Given the description of an element on the screen output the (x, y) to click on. 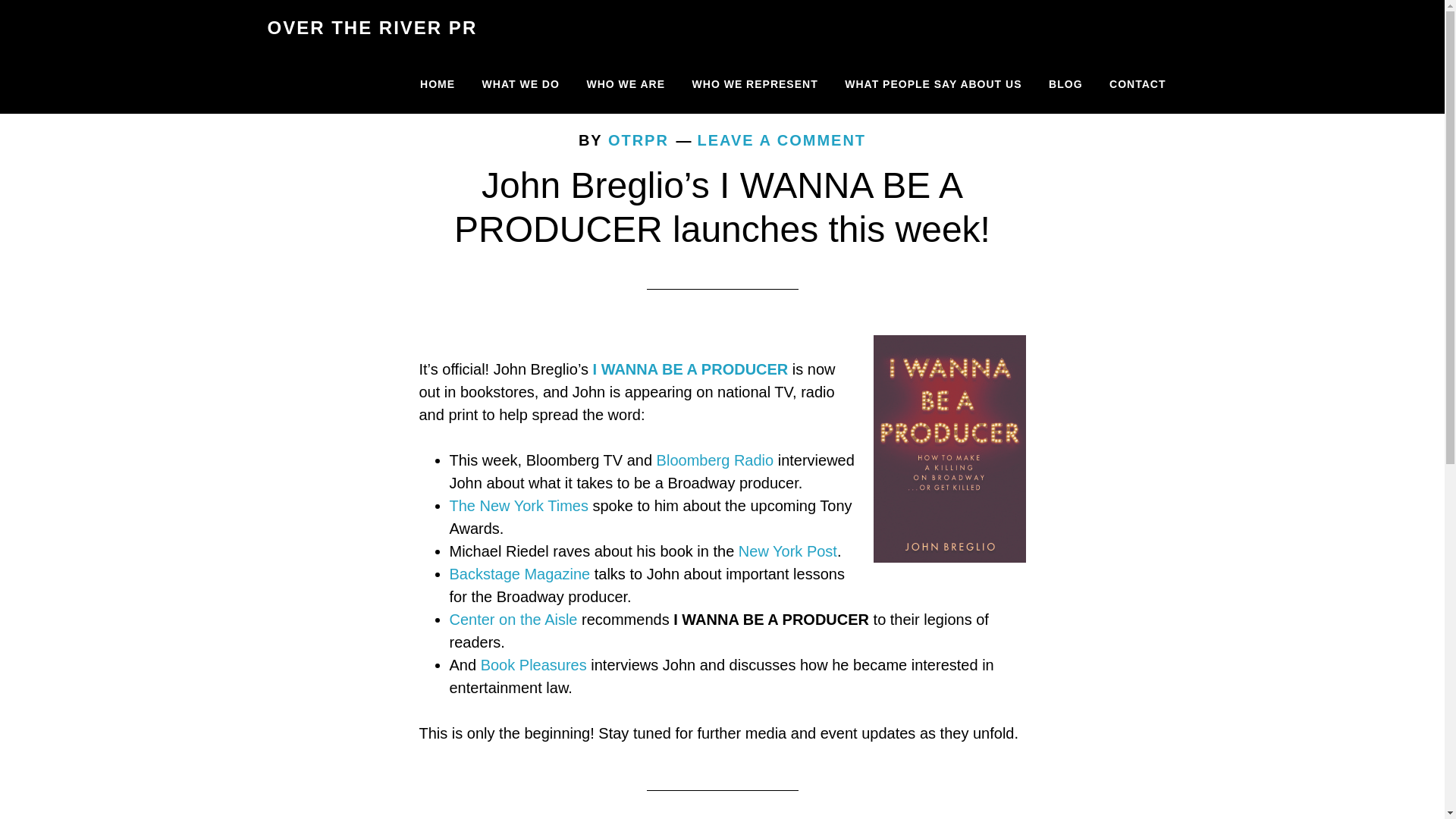
The New York Times (518, 505)
Center on the Aisle (512, 619)
New York Post (787, 550)
I WANNA BE A PRODUCER (690, 369)
Backstage Magazine (518, 573)
WHO WE ARE (626, 84)
OVER THE RIVER PR (371, 27)
BLOG (1064, 84)
HOME (437, 84)
CONTACT (1136, 84)
WHO WE REPRESENT (755, 84)
WHAT WE DO (520, 84)
WHAT PEOPLE SAY ABOUT US (932, 84)
Book Pleasures (531, 664)
LEAVE A COMMENT (781, 139)
